Given the description of an element on the screen output the (x, y) to click on. 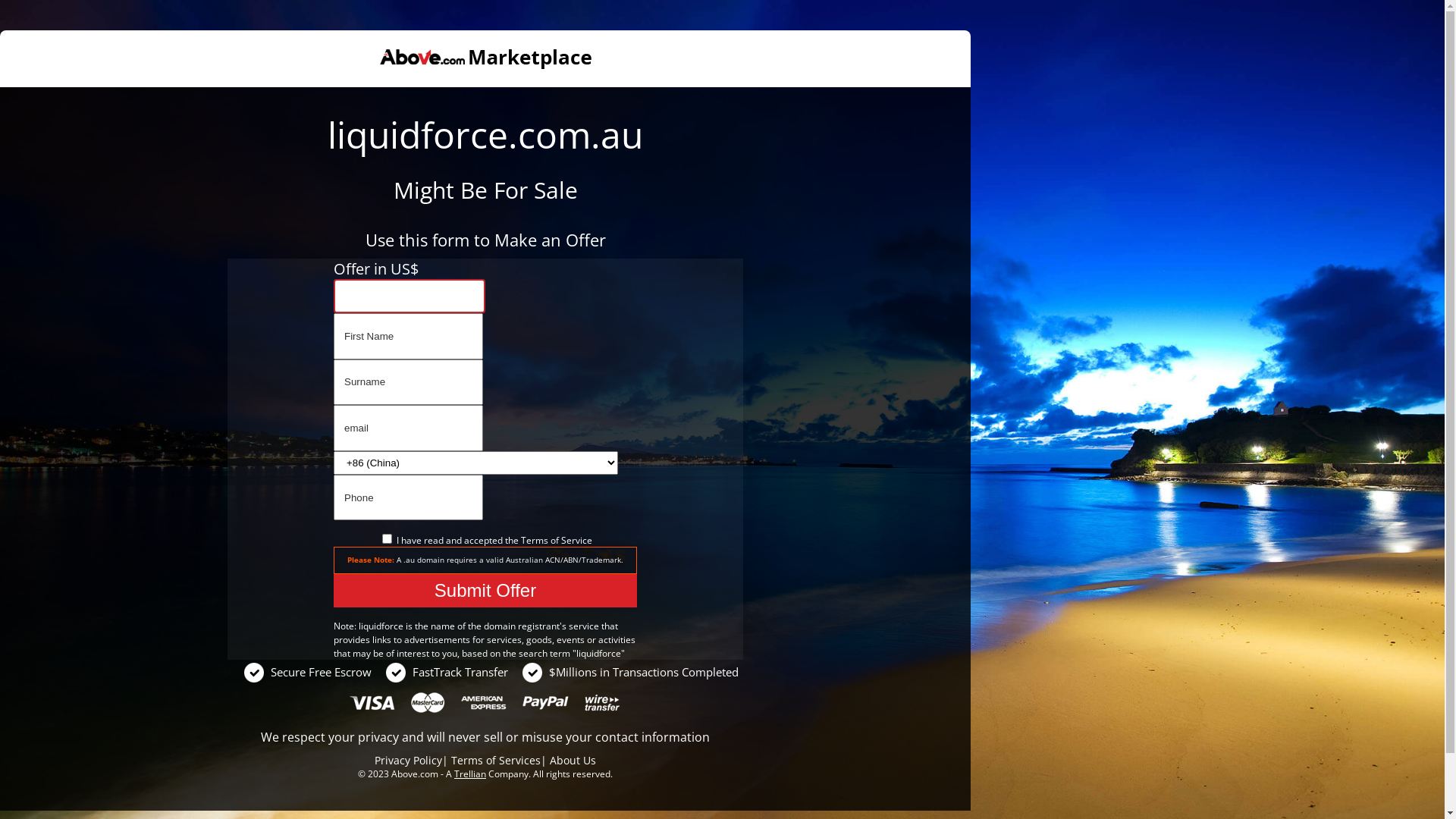
Trellian Element type: text (470, 773)
Terms Element type: text (533, 539)
About Us Element type: text (572, 760)
Terms of Services Element type: text (495, 760)
Privacy Policy Element type: text (408, 760)
Submit Offer Element type: text (485, 590)
